Given the description of an element on the screen output the (x, y) to click on. 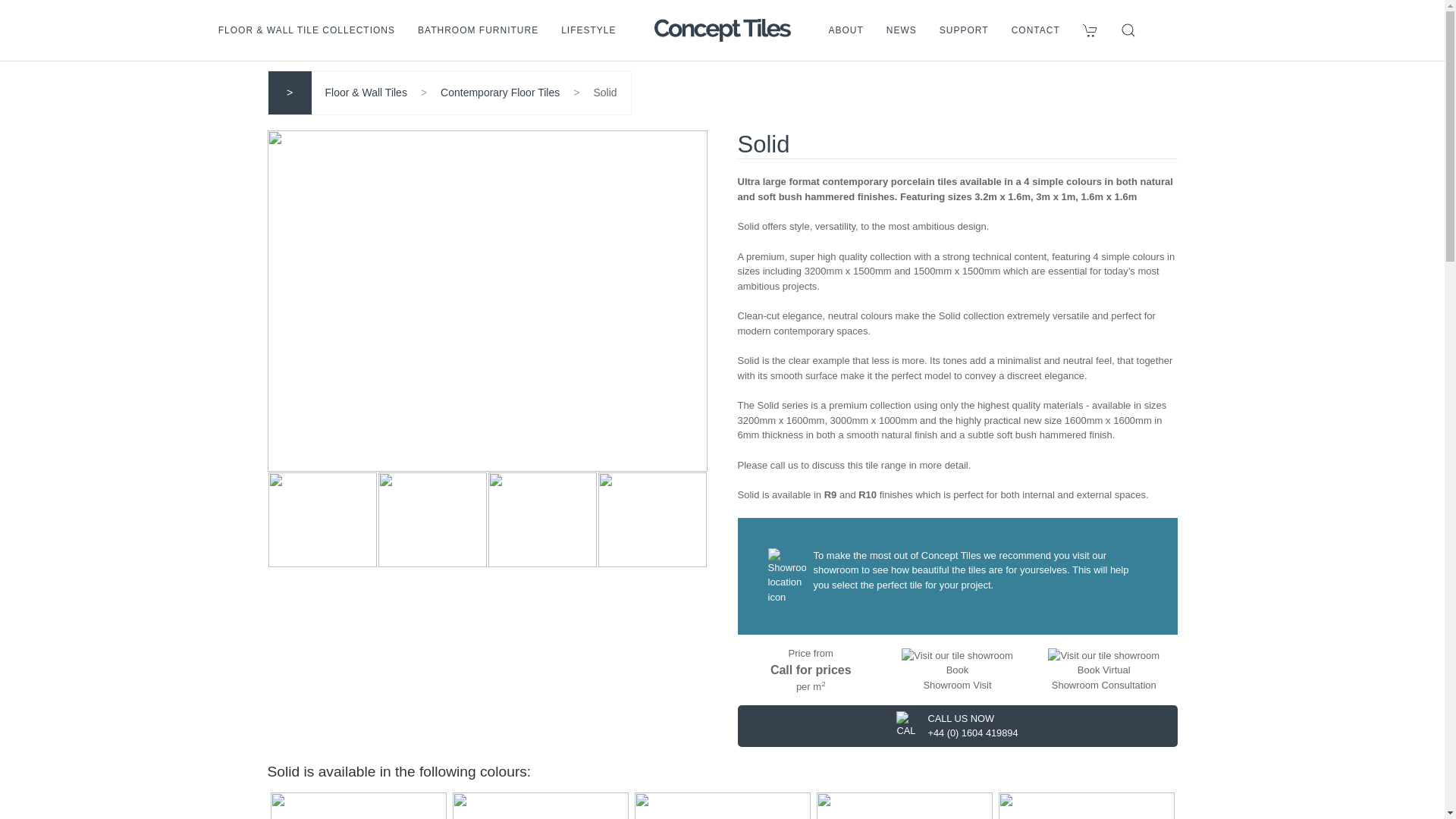
CAMEL TILE (903, 804)
GREY TILE (539, 804)
LIFESTYLE (588, 30)
SUPPORT (964, 30)
ABOUT (845, 30)
Bathroom Furniture (478, 30)
CONTACT (1035, 30)
BLACK TILE (357, 804)
BATHROOM FURNITURE (478, 30)
BLANCO TILE (1085, 804)
VISION TILE (721, 804)
